Given the description of an element on the screen output the (x, y) to click on. 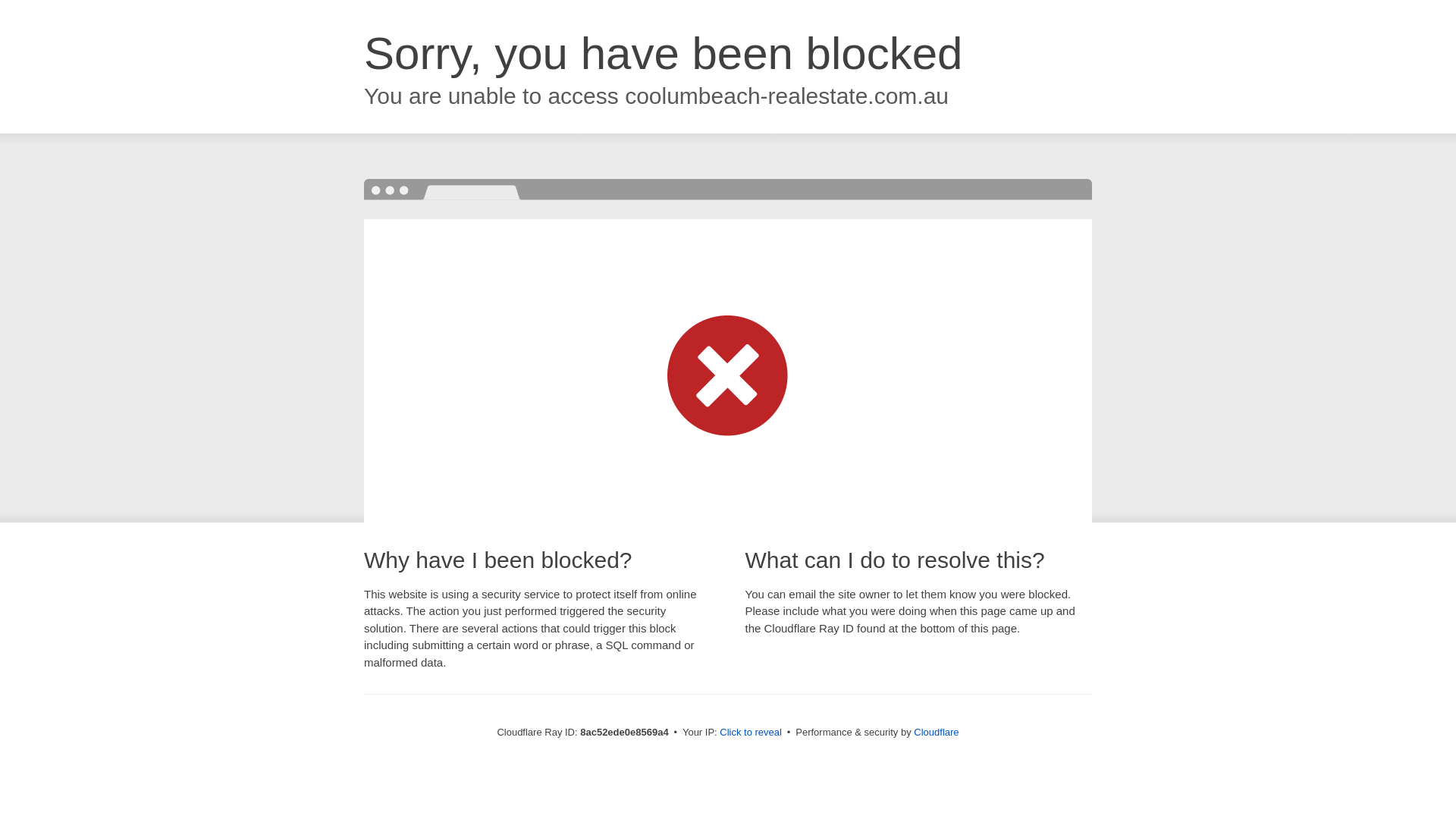
Click to reveal (750, 732)
Cloudflare (936, 731)
